Given the description of an element on the screen output the (x, y) to click on. 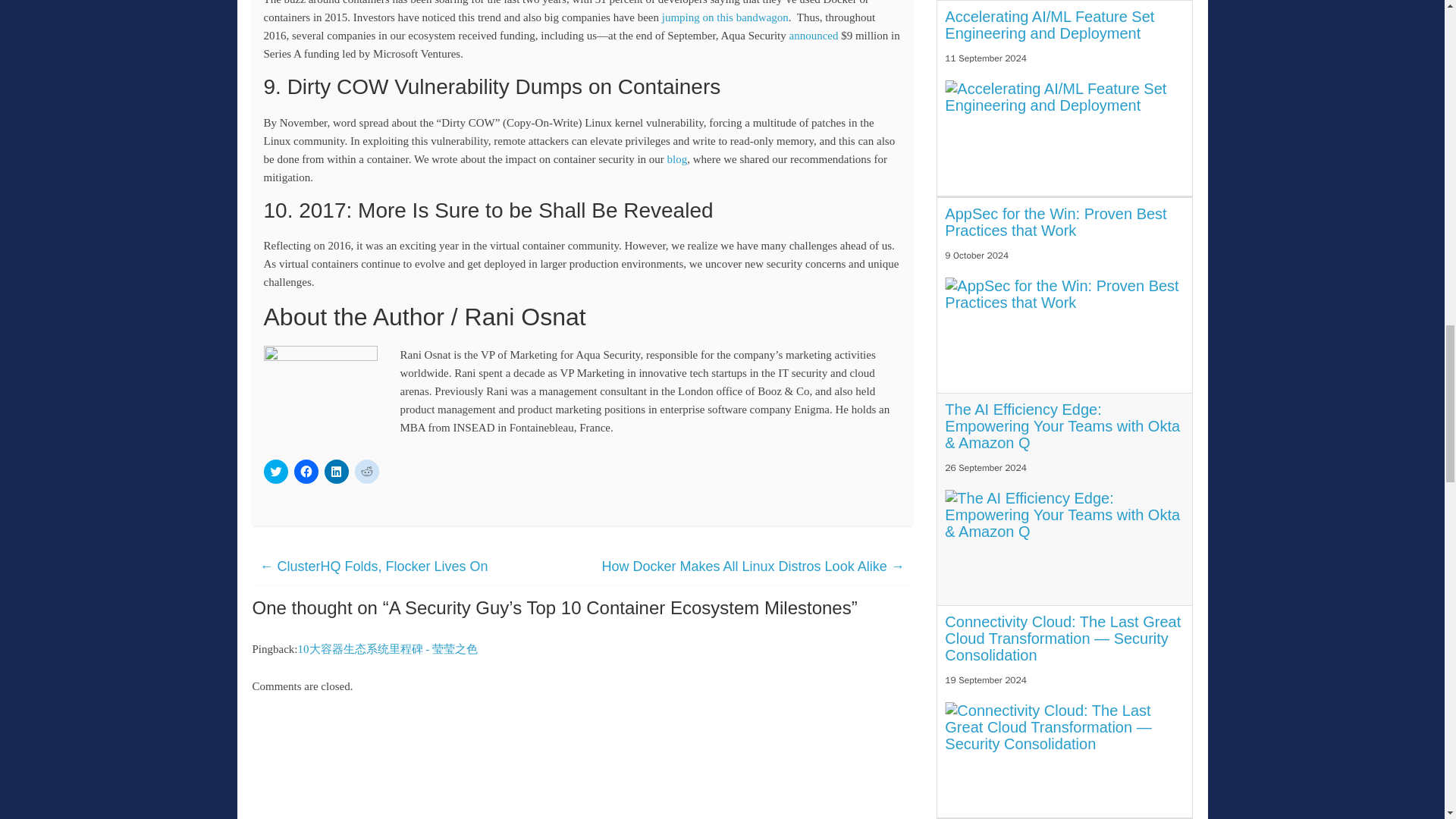
Click to share on Twitter (275, 471)
Click to share on Facebook (306, 471)
Click to share on Reddit (366, 471)
Click to share on LinkedIn (336, 471)
